Given the description of an element on the screen output the (x, y) to click on. 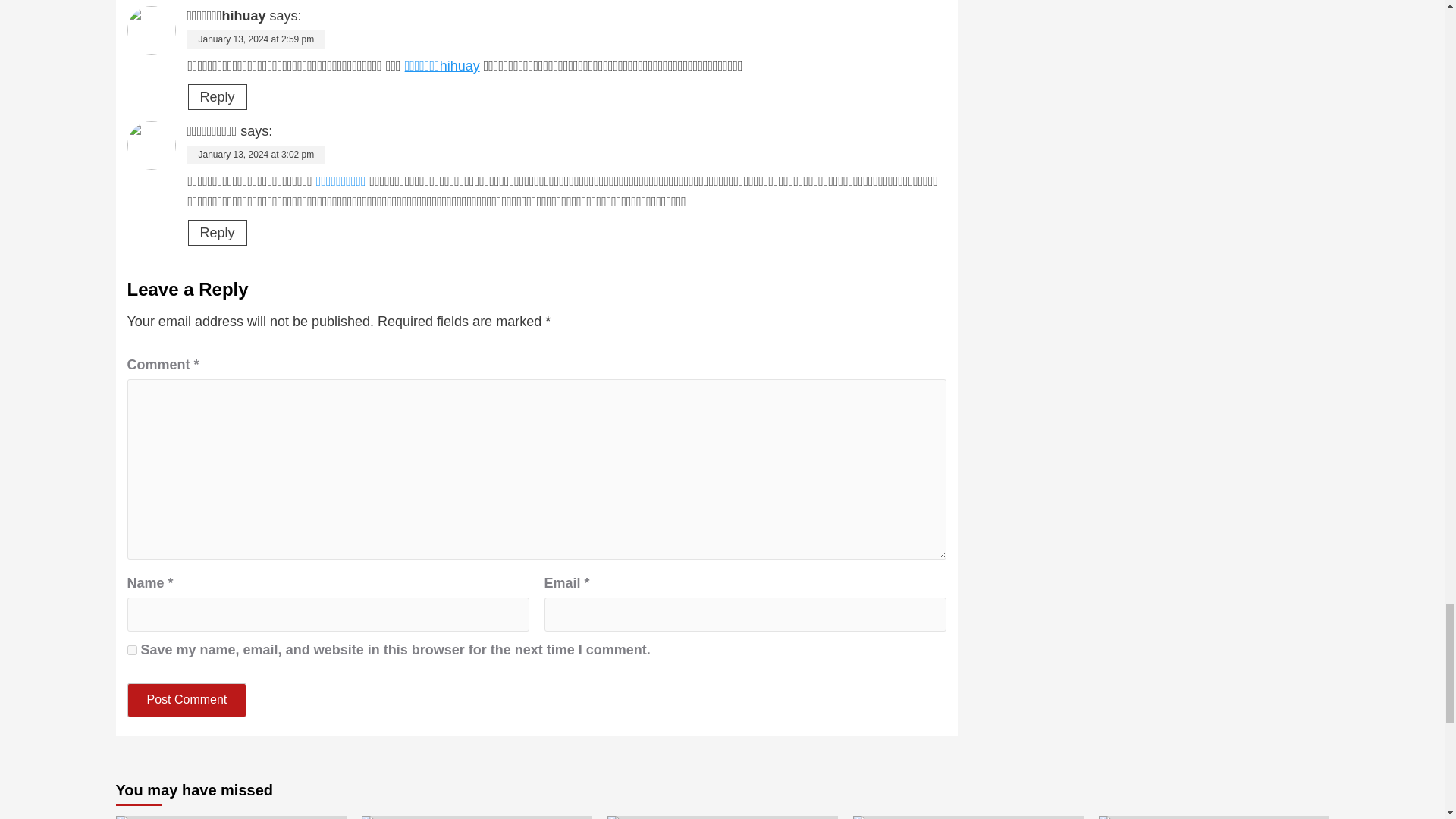
yes (132, 650)
Post Comment (187, 700)
